Given the description of an element on the screen output the (x, y) to click on. 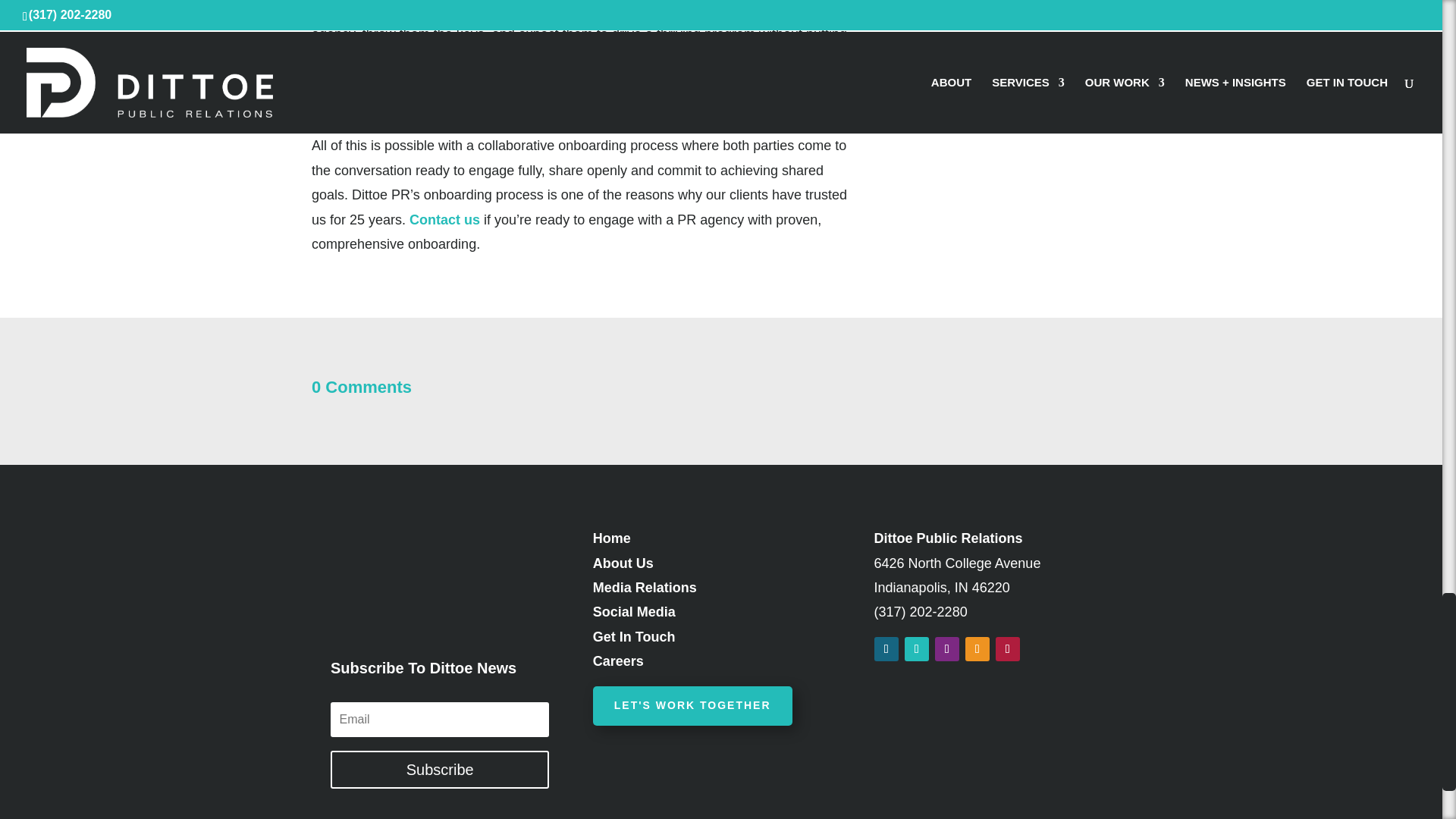
Follow on TikTok (1007, 648)
Follow on X (916, 648)
Follow on LinkedIn (977, 648)
Follow on Facebook (886, 648)
Follow on Instagram (946, 648)
